Given the description of an element on the screen output the (x, y) to click on. 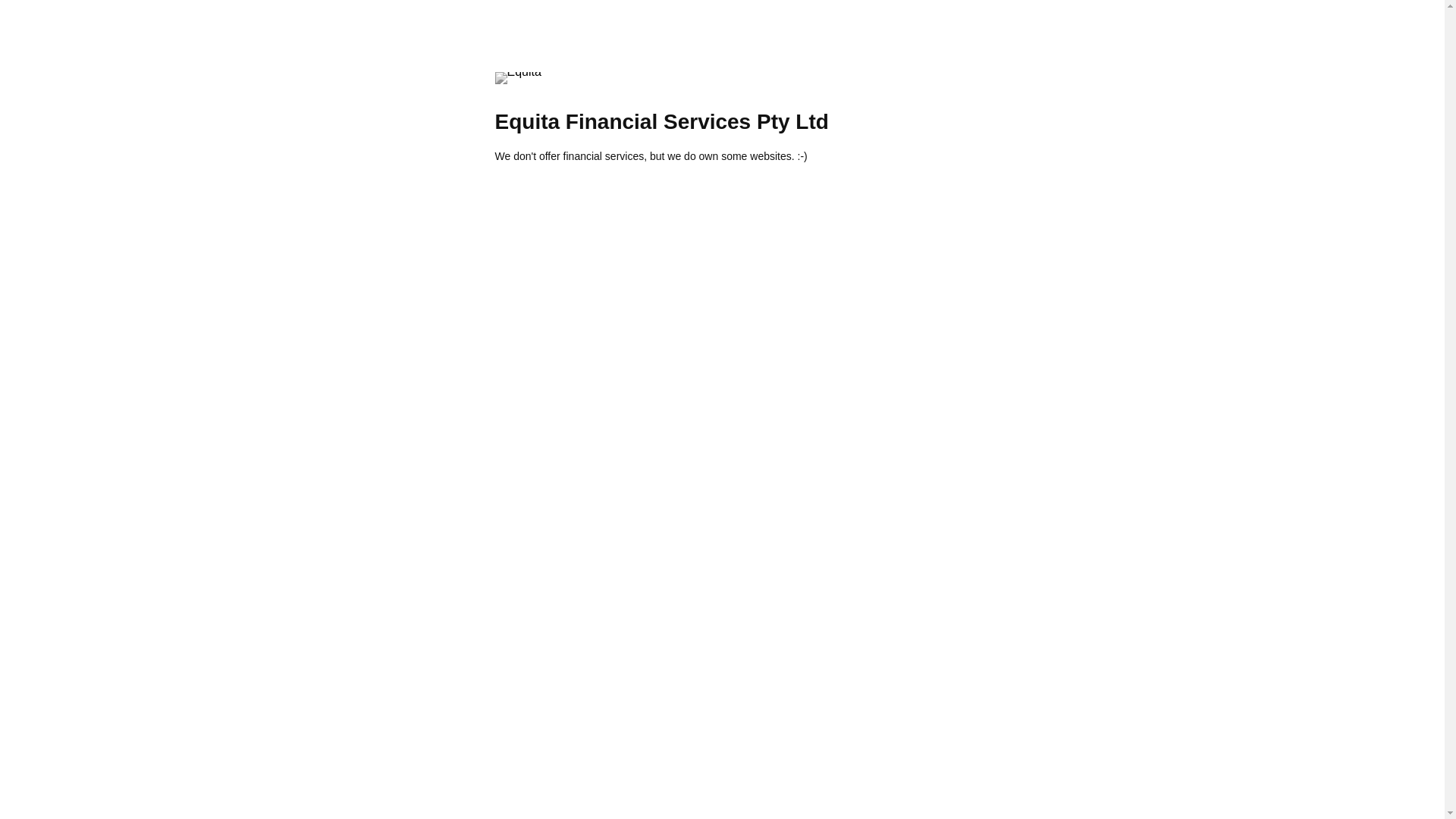
Equita Element type: hover (517, 78)
